Given the description of an element on the screen output the (x, y) to click on. 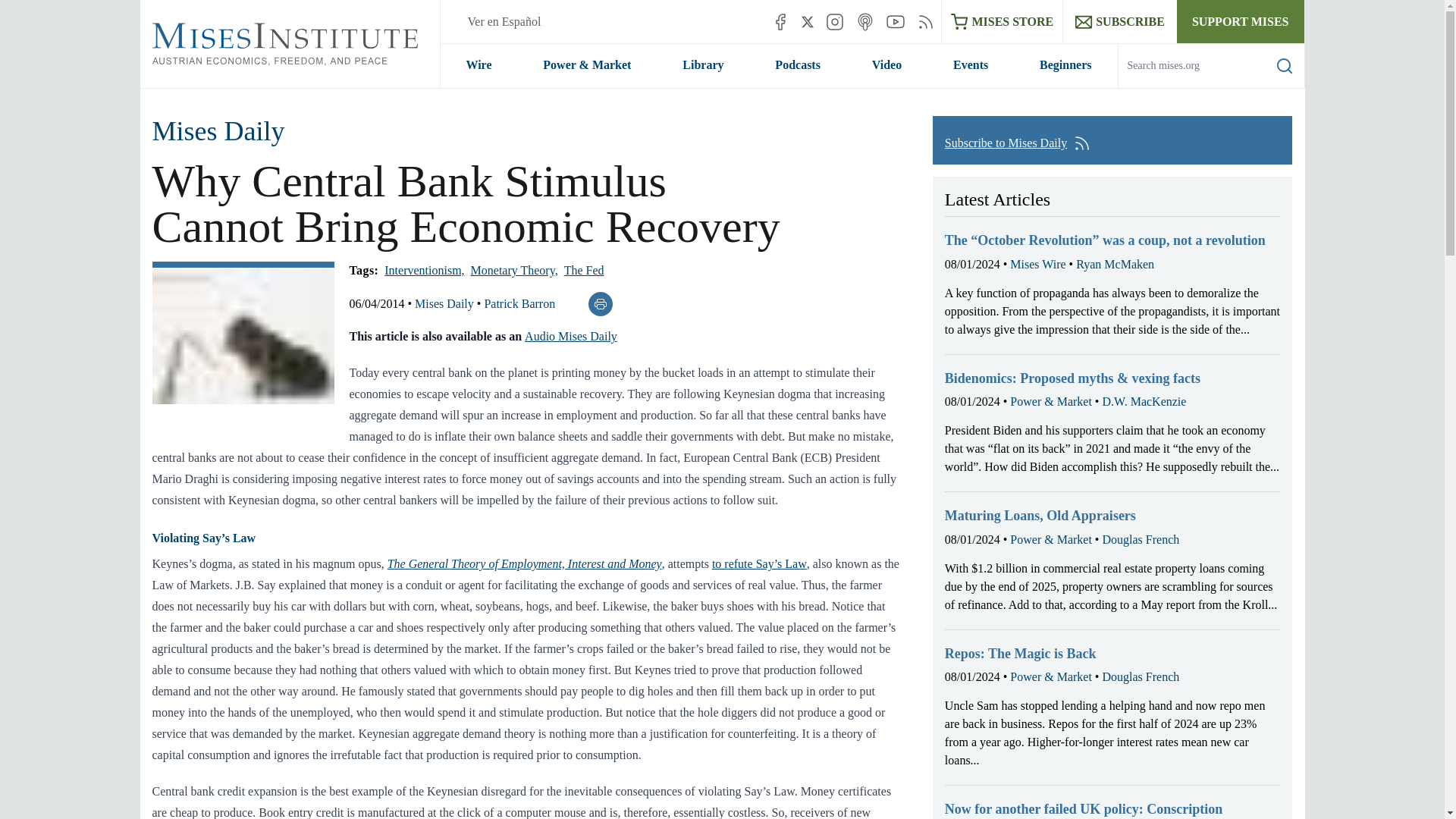
Submit (1272, 87)
Events (970, 65)
Mises RSS feed (925, 21)
Mises Facebook (780, 21)
Mises itunes (865, 21)
MISES STORE (1002, 21)
SUBSCRIBE (1119, 21)
Podcasts (797, 65)
Video (886, 65)
Library (702, 65)
Search (1284, 65)
Mises Instagram (834, 21)
Wire (477, 65)
Mises X (807, 21)
